Given the description of an element on the screen output the (x, y) to click on. 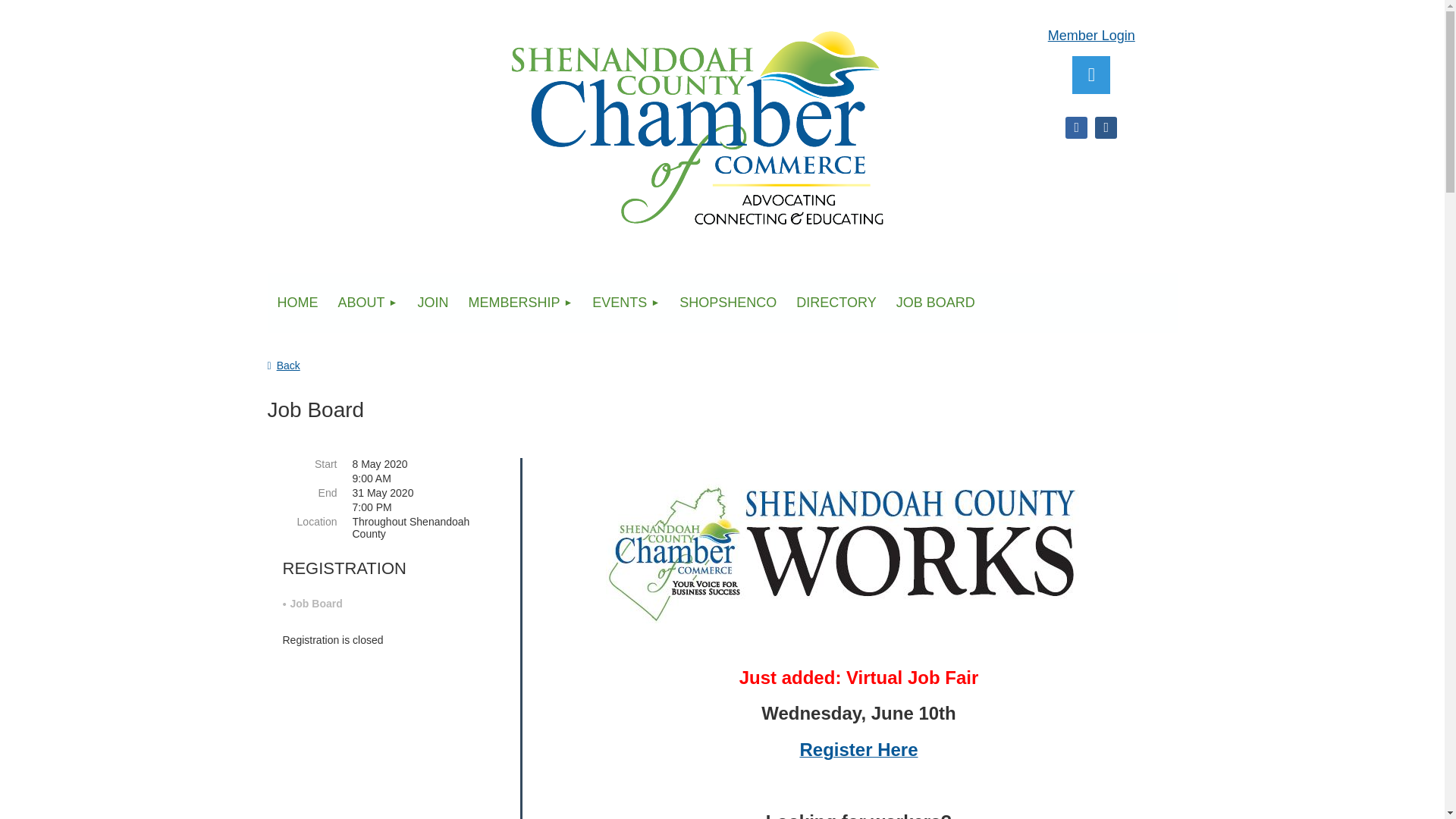
HOME (296, 302)
Log in (1090, 75)
Member Login (1091, 35)
ABOUT (367, 302)
MEMBERSHIP (520, 302)
